Given the description of an element on the screen output the (x, y) to click on. 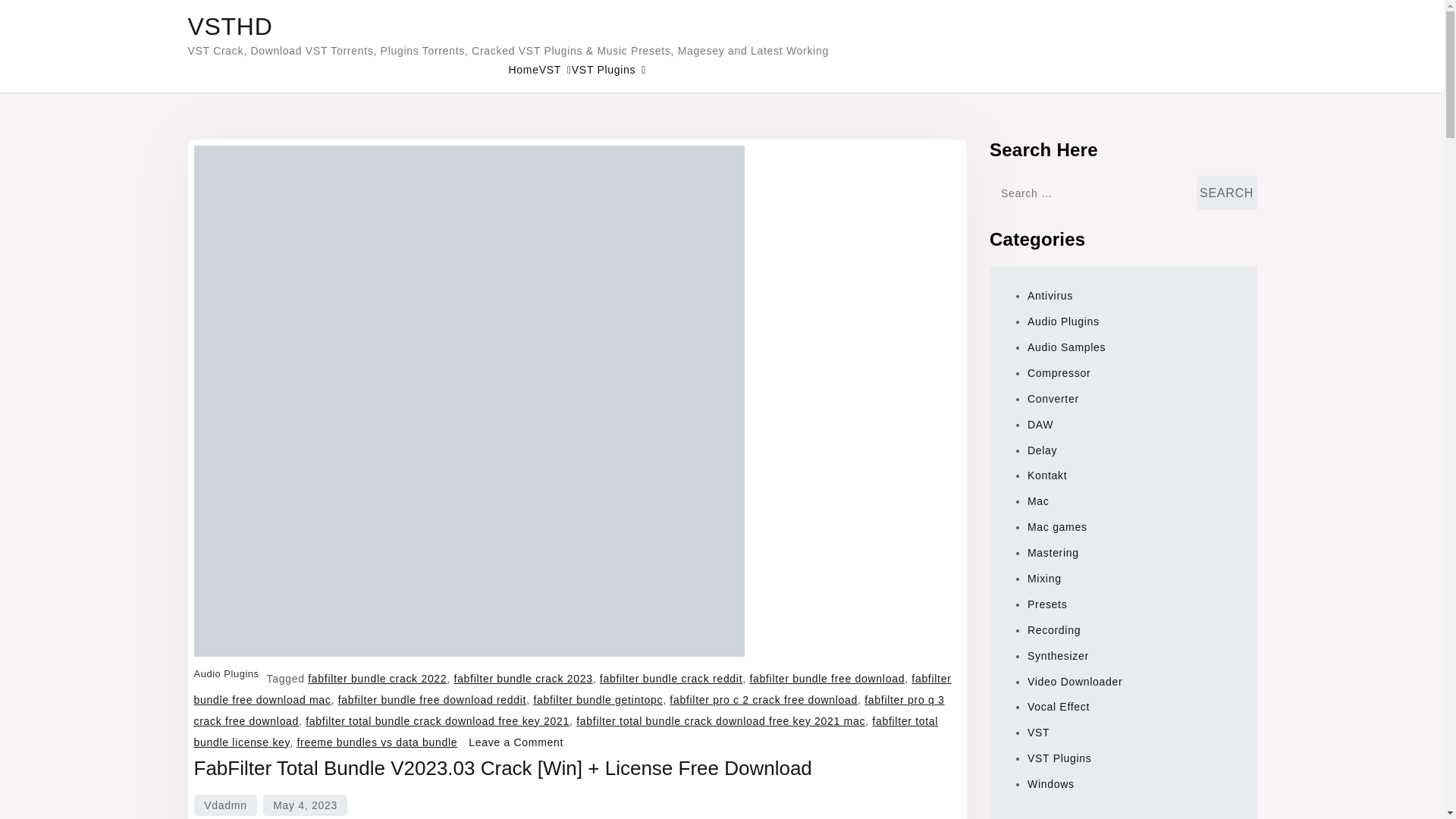
fabfilter bundle free download (826, 678)
fabfilter total bundle license key (566, 731)
Audio Plugins (226, 673)
VST Plugins (609, 69)
fabfilter total bundle crack download free key 2021 (437, 720)
fabfilter bundle free download reddit (432, 699)
fabfilter total bundle crack download free key 2021 mac (720, 720)
fabfilter bundle getintopc (597, 699)
fabfilter bundle crack 2023 (523, 678)
Home (523, 69)
fabfilter bundle crack 2022 (376, 678)
fabfilter bundle free download mac (572, 688)
fabfilter pro q 3 crack free download (568, 710)
Vdadmn (224, 804)
VSTHD (230, 26)
